Given the description of an element on the screen output the (x, y) to click on. 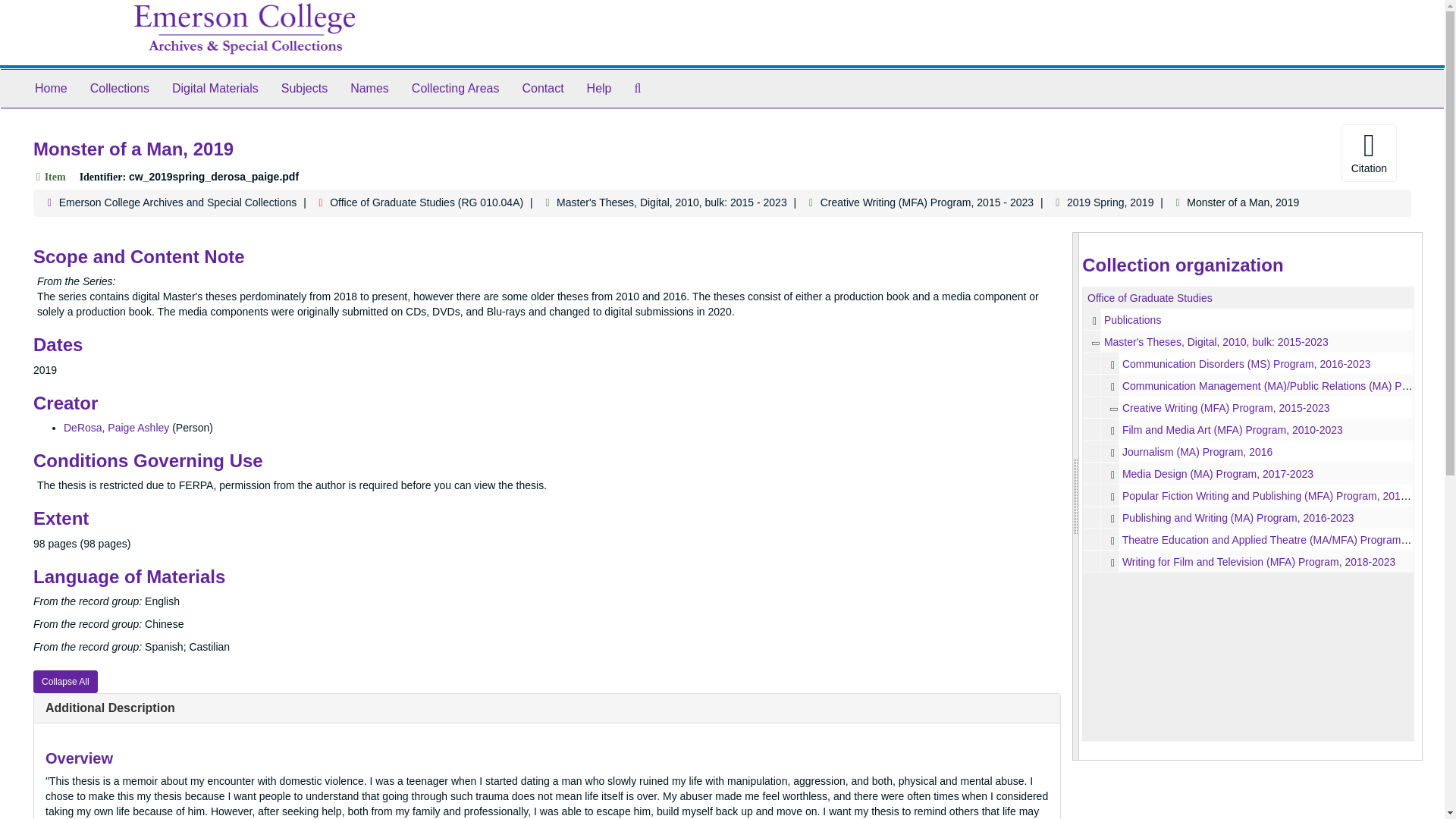
Office of Graduate Studies (1149, 297)
Collections (119, 88)
Home (50, 88)
Additional Description (109, 707)
Collecting Areas (455, 88)
Master's Theses, Digital (1248, 341)
Publications (1132, 319)
Emerson College Archives and Special Collections (178, 202)
DeRosa, Paige Ashley (116, 427)
Help (599, 88)
translation missing: en.Help (598, 88)
Collapse All (65, 681)
Master's Theses, Digital, 2010, bulk: 2015 - 2023 (671, 202)
Names (369, 88)
Publications (1248, 319)
